Given the description of an element on the screen output the (x, y) to click on. 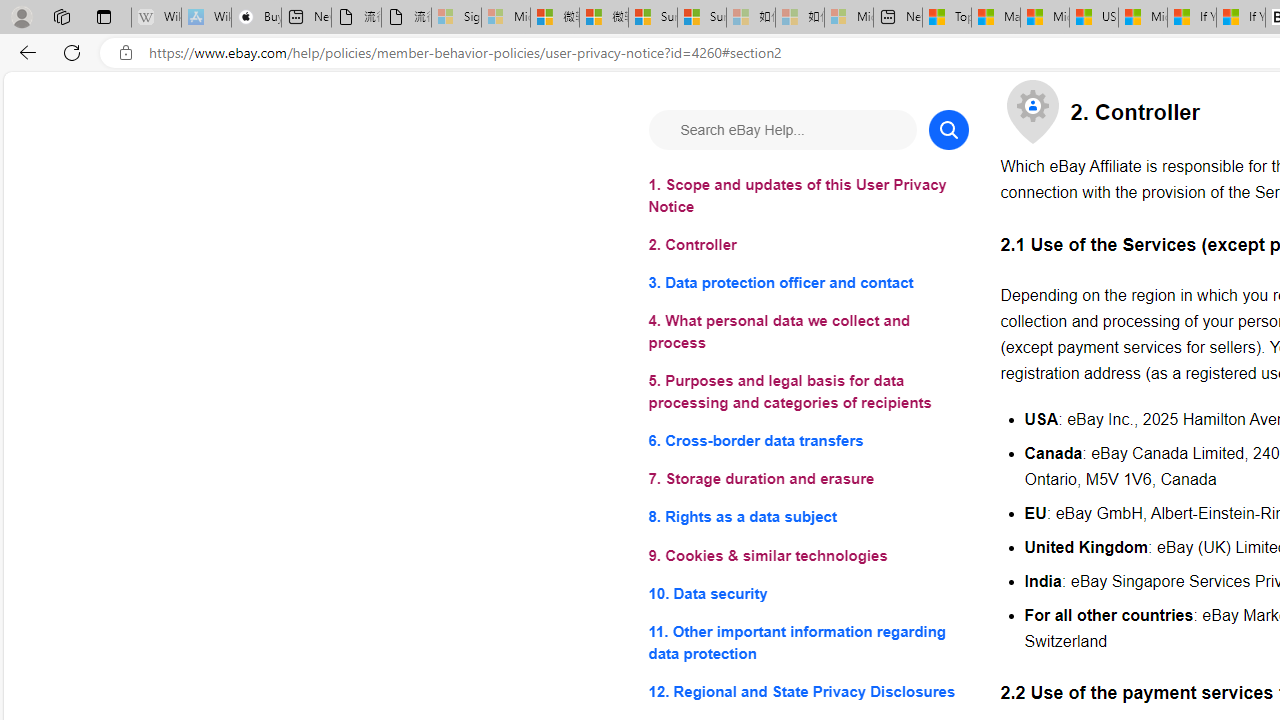
9. Cookies & similar technologies (807, 555)
